Given the description of an element on the screen output the (x, y) to click on. 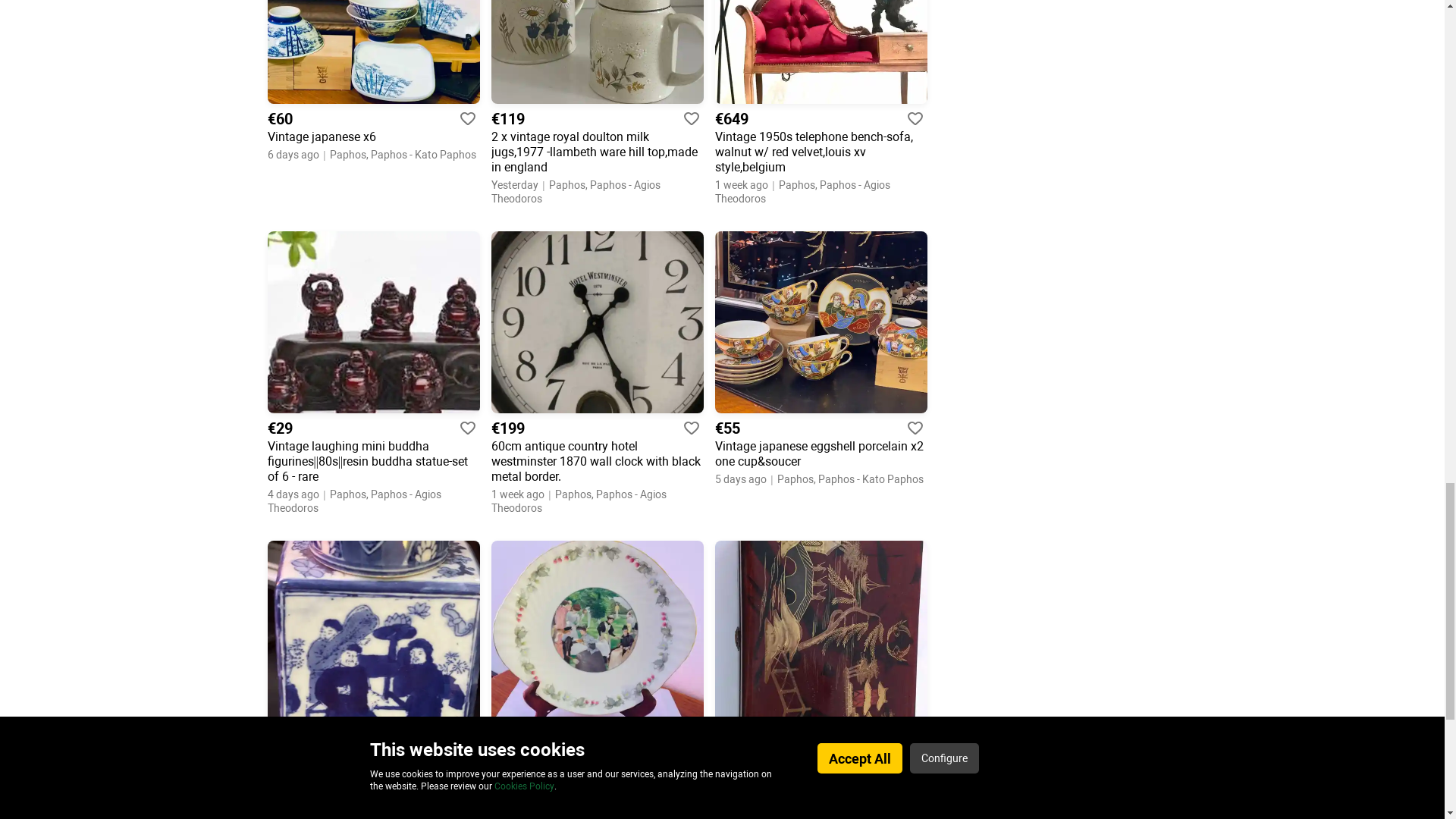
Vintage japanese x6 (372, 136)
